Given the description of an element on the screen output the (x, y) to click on. 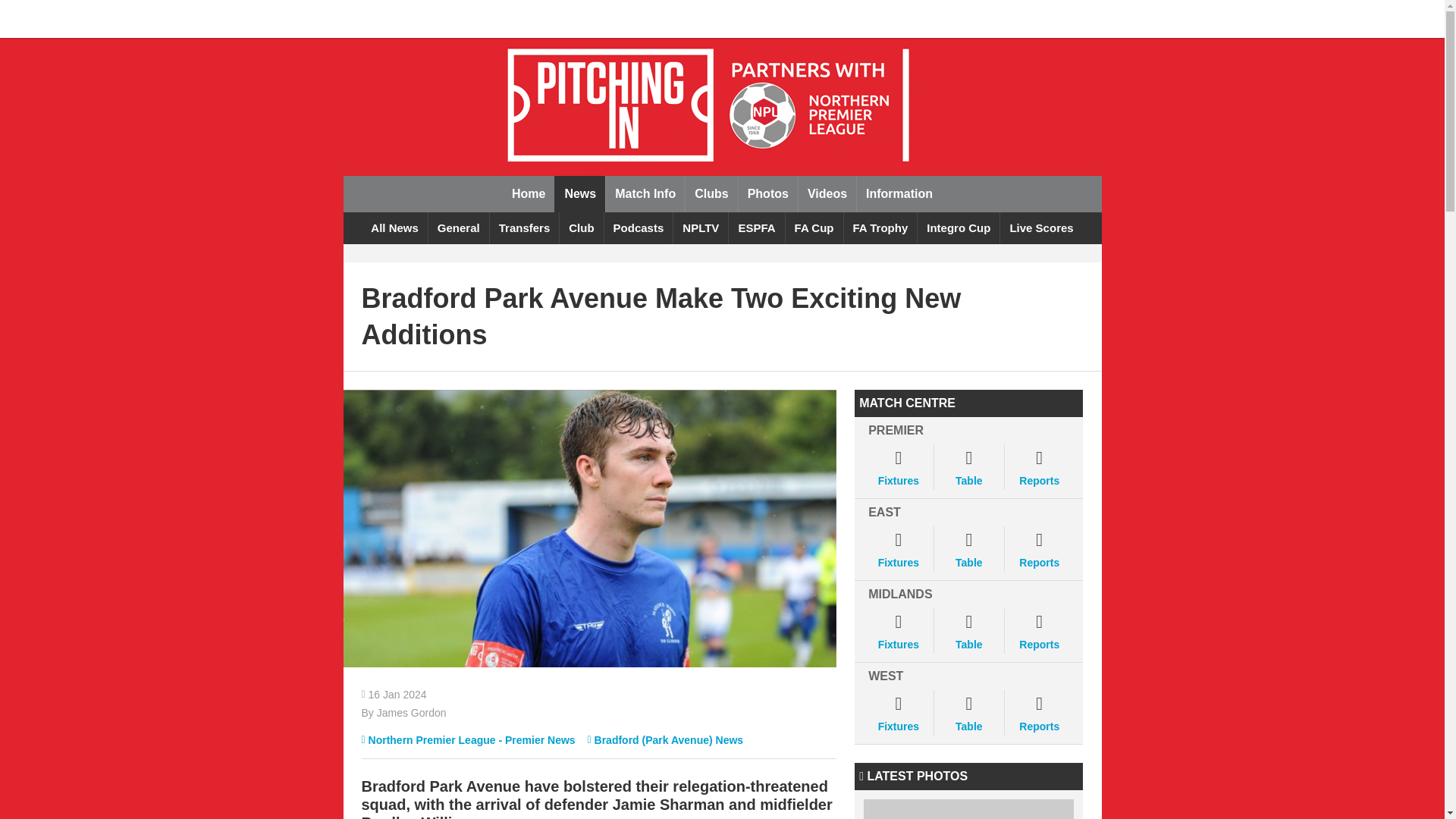
FA Trophy (880, 228)
Transfers (524, 228)
News (579, 194)
Match Info (644, 194)
All News (394, 228)
Integro Cup (957, 228)
Live Scores (1039, 228)
Podcasts (638, 228)
NPLTV (700, 228)
Pitchero (393, 18)
